Given the description of an element on the screen output the (x, y) to click on. 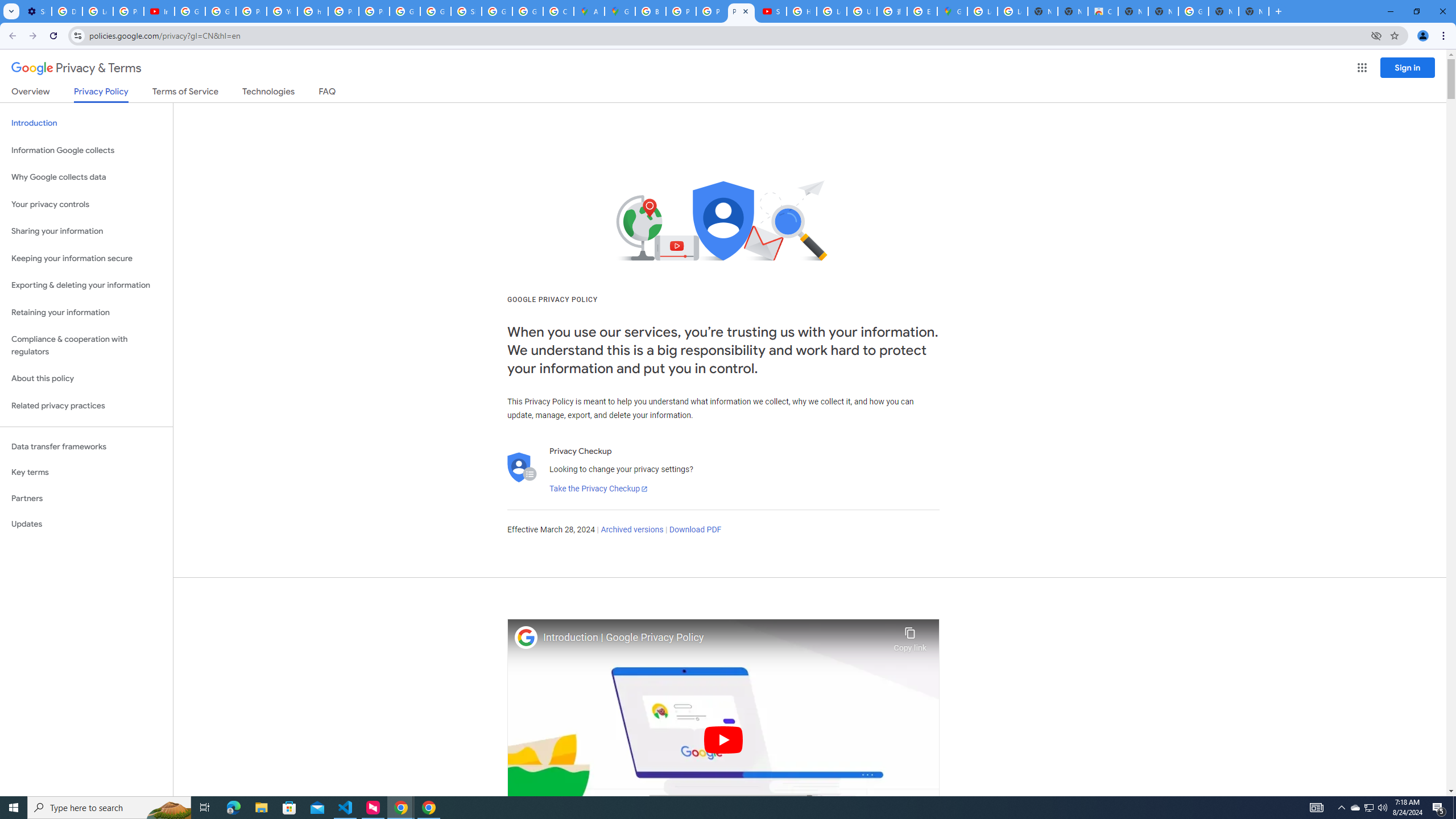
New Tab (1253, 11)
Privacy Help Center - Policies Help (710, 11)
Privacy Help Center - Policies Help (681, 11)
Retaining your information (86, 312)
Archived versions (631, 529)
Compliance & cooperation with regulators (86, 345)
YouTube (282, 11)
Related privacy practices (86, 405)
Introduction | Google Privacy Policy - YouTube (158, 11)
